Given the description of an element on the screen output the (x, y) to click on. 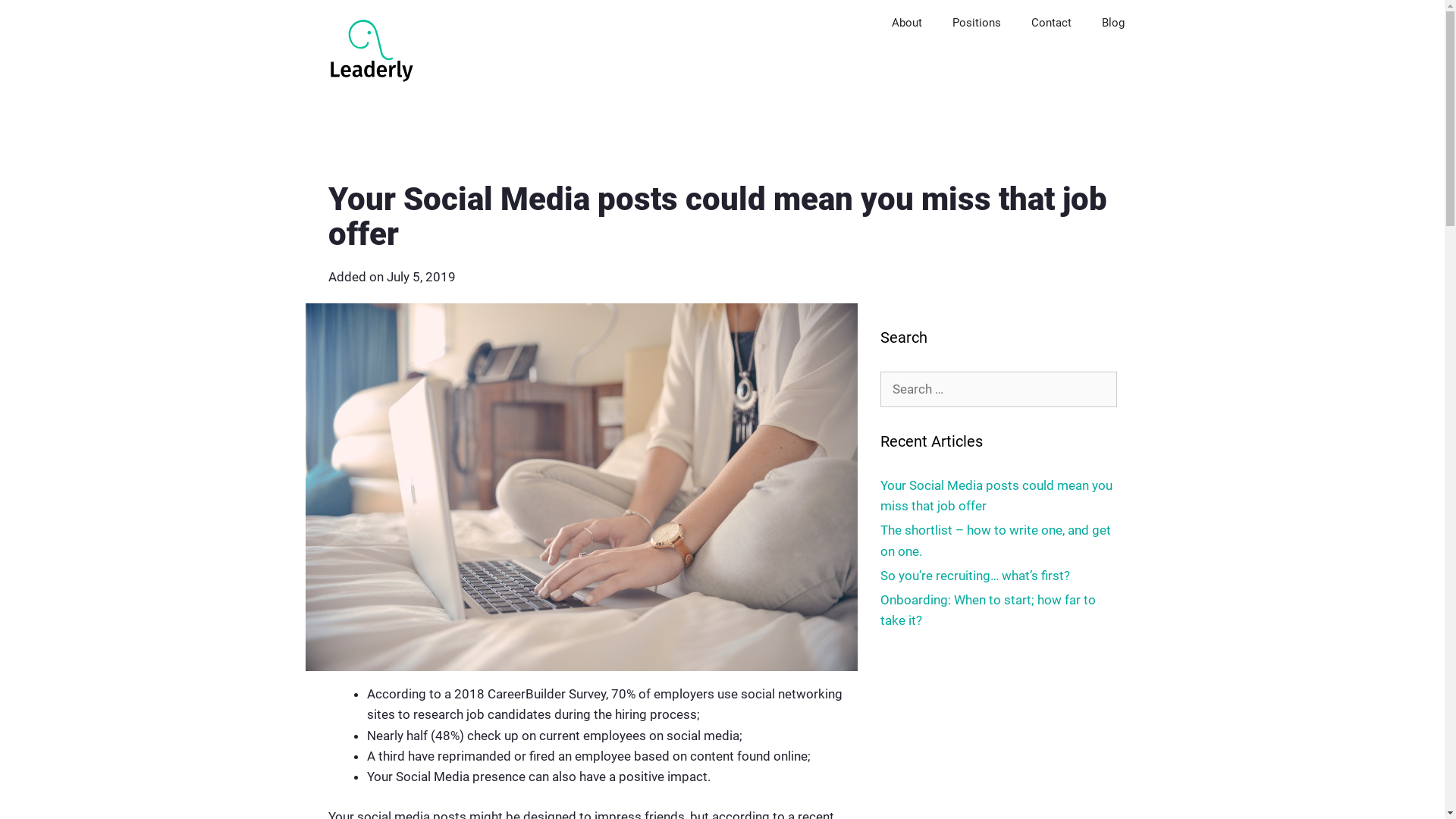
Your Social Media posts could mean you miss that job offer Element type: text (995, 495)
Contact Element type: text (1051, 22)
Leaderly Element type: hover (367, 45)
Search for: Element type: hover (997, 389)
Search Element type: text (35, 18)
About Element type: text (906, 22)
Blog Element type: text (1112, 22)
Leaderly Element type: hover (370, 45)
Positions Element type: text (976, 22)
Onboarding: When to start; how far to take it? Element type: text (987, 609)
